Given the description of an element on the screen output the (x, y) to click on. 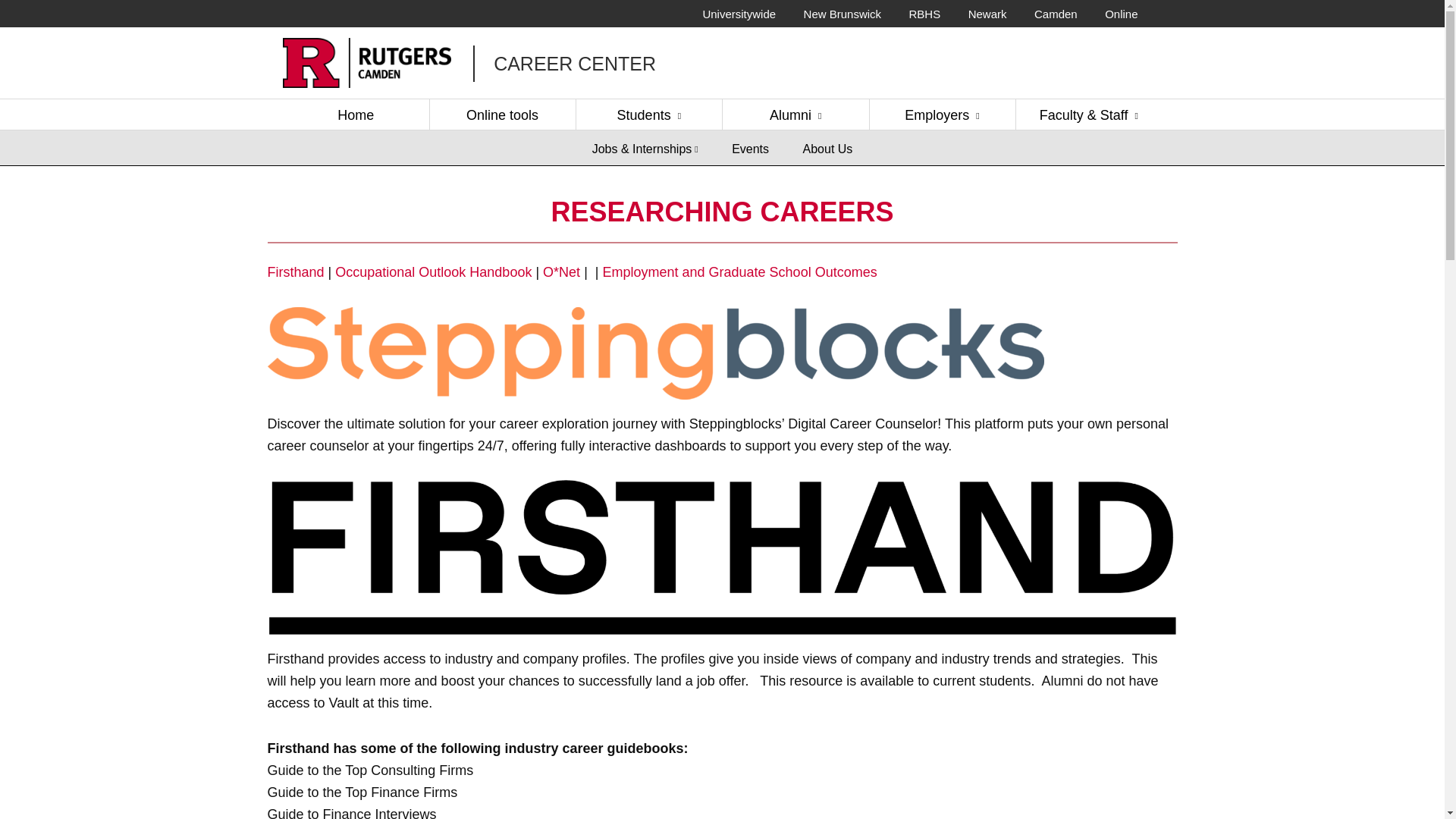
Camden (1055, 13)
Universitywide (738, 13)
Home (355, 114)
Newark (986, 13)
Online tools (502, 114)
RBHS (924, 13)
Online (1120, 13)
New Brunswick (842, 13)
Students (648, 114)
CAREER CENTER (574, 63)
